Given the description of an element on the screen output the (x, y) to click on. 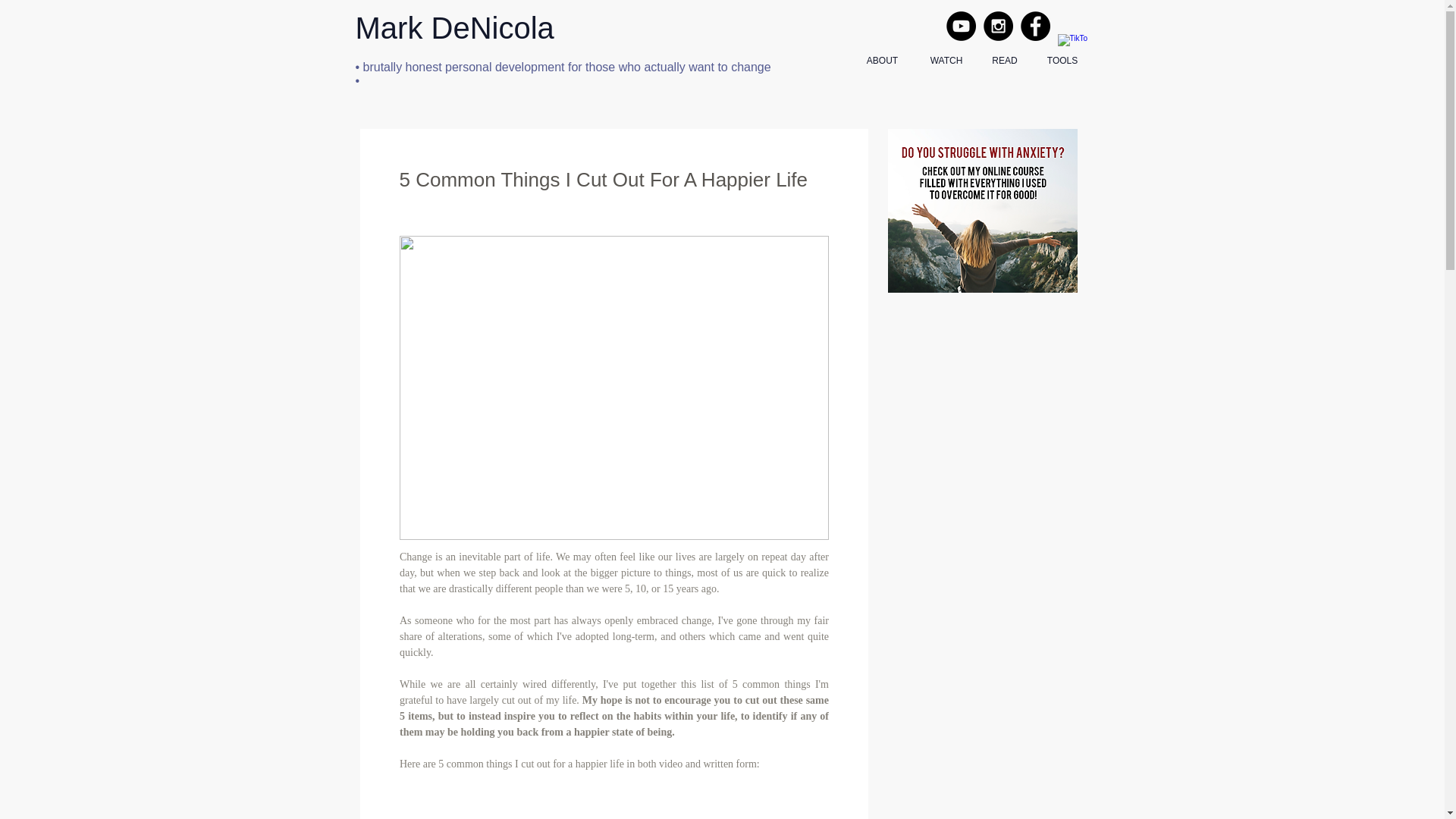
Mark DeNicola (454, 28)
ricos-video (613, 796)
WATCH (946, 60)
READ (1004, 60)
ABOUT (882, 60)
